Given the description of an element on the screen output the (x, y) to click on. 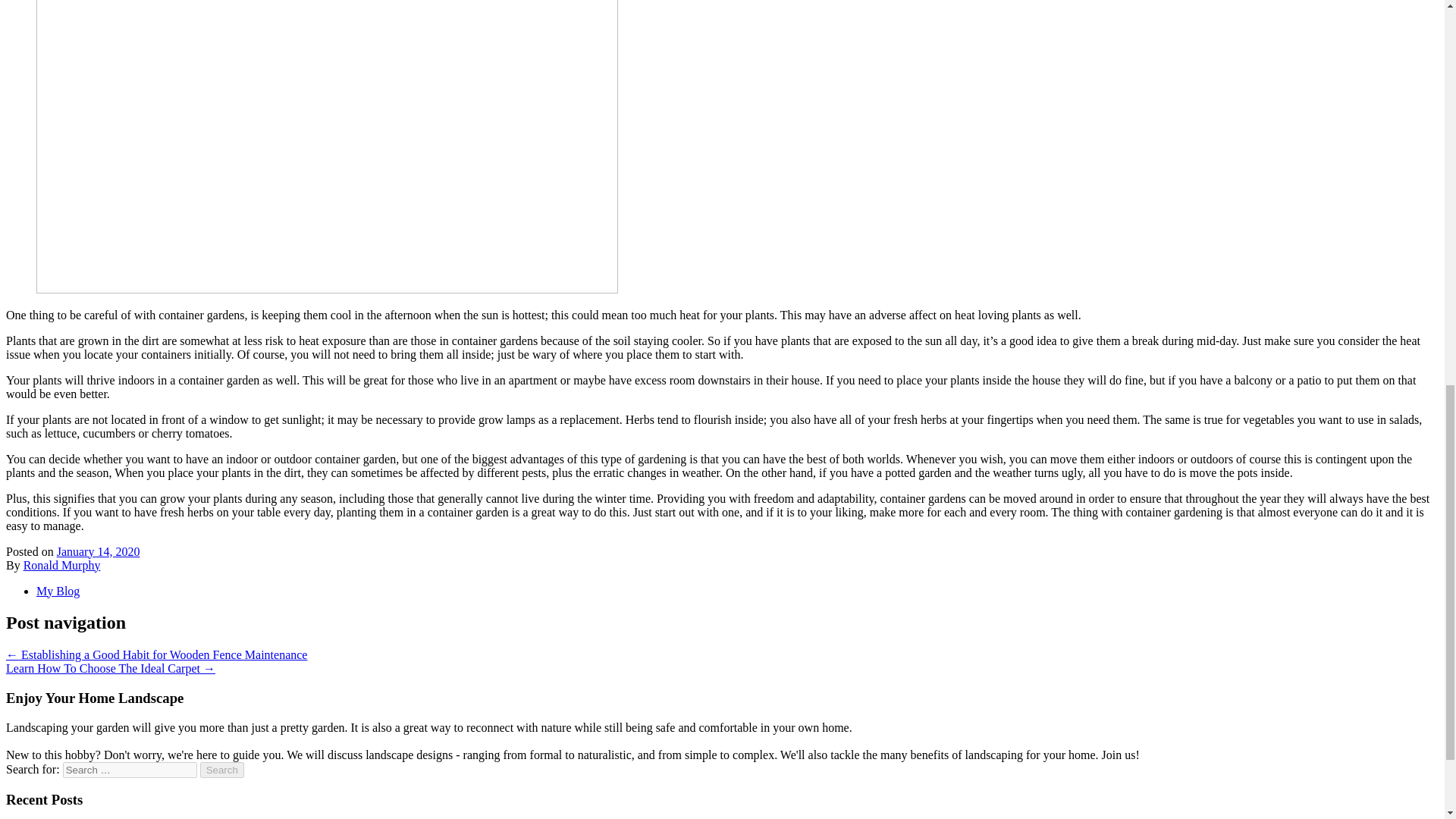
Search (222, 770)
My Blog (58, 590)
View all posts by Ronald Murphy (61, 563)
Search (222, 770)
Ronald Murphy (61, 563)
Search (222, 770)
View all posts in My Blog (58, 590)
Permalink to Why Container Gardening Works Best (97, 550)
January 14, 2020 (97, 550)
